Given the description of an element on the screen output the (x, y) to click on. 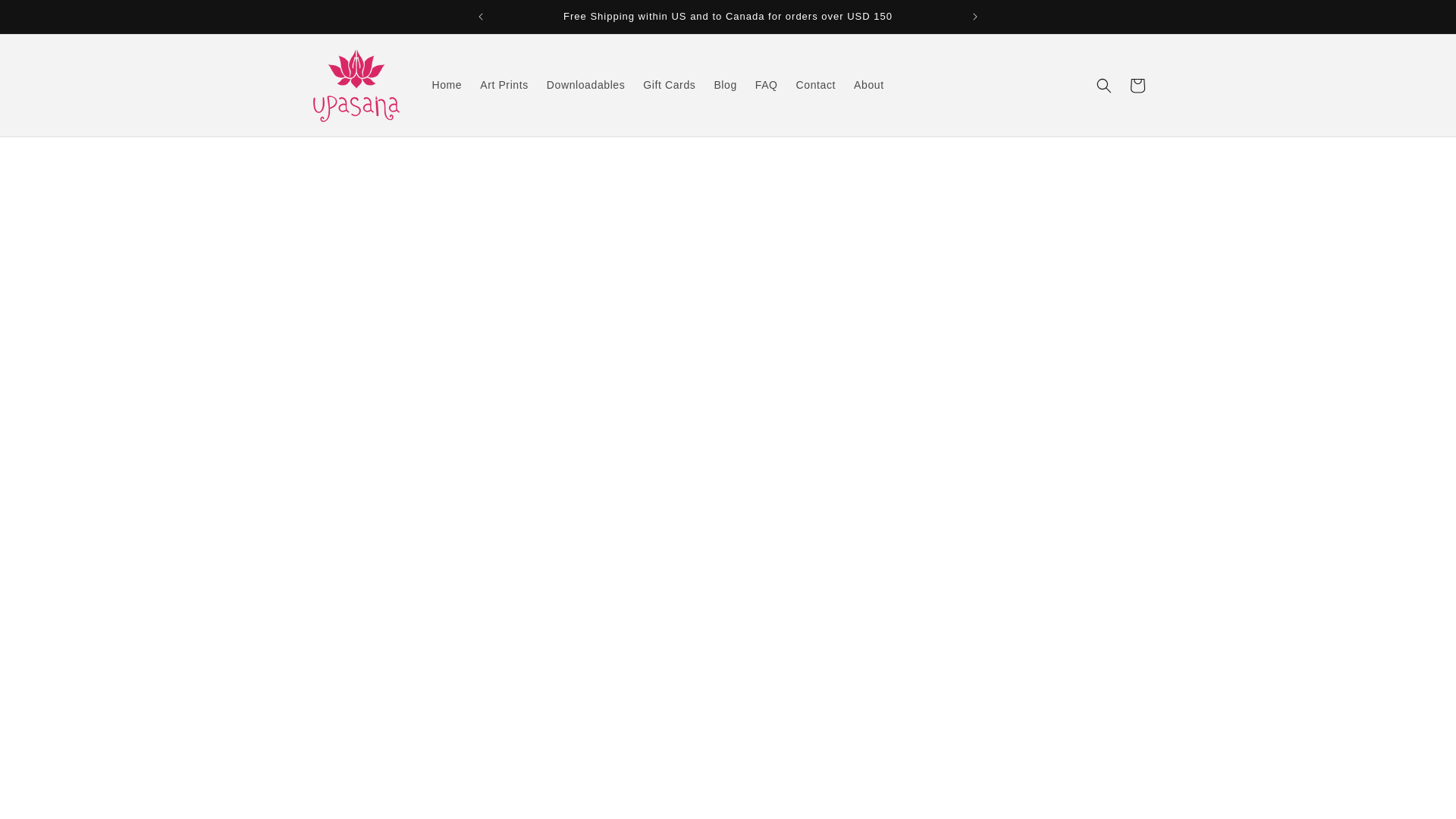
Home (447, 84)
Skip to content (45, 17)
About (868, 84)
Blog (724, 84)
Gift Cards (668, 84)
Contact (815, 84)
FAQ (766, 84)
Art Prints (503, 84)
Cart (1137, 84)
Downloadables (585, 84)
